Given the description of an element on the screen output the (x, y) to click on. 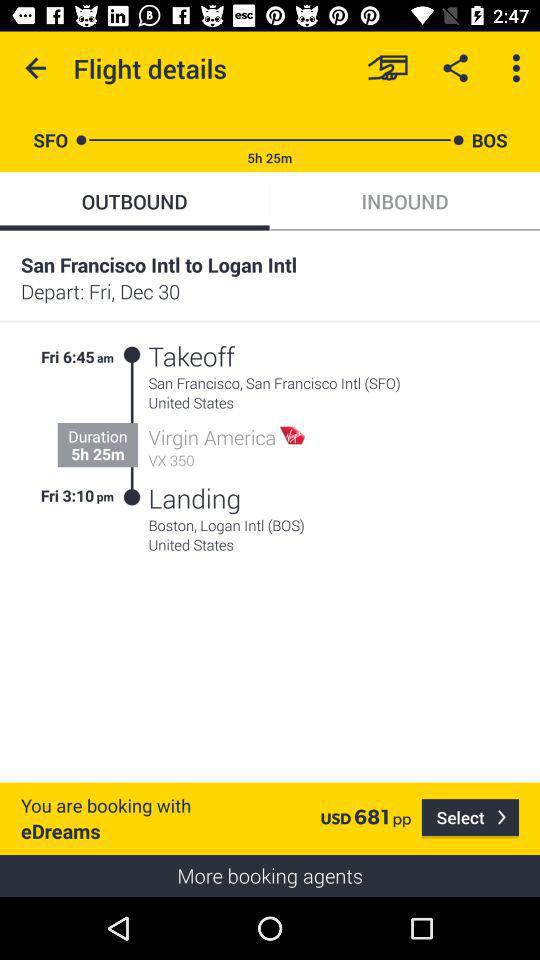
turn off the item above boston logan intl icon (194, 497)
